Given the description of an element on the screen output the (x, y) to click on. 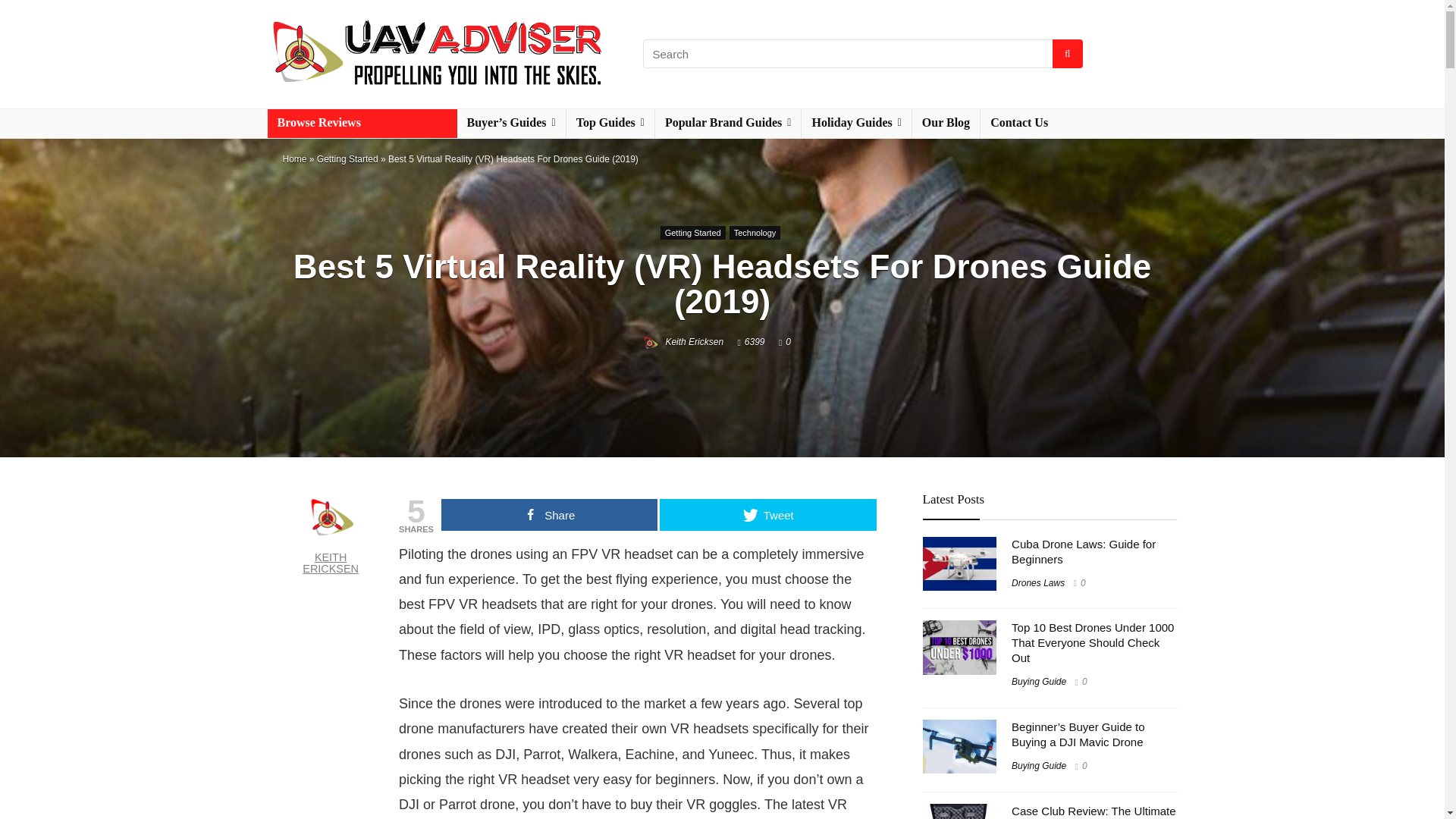
View all posts in Technology (754, 232)
Holiday Guides (856, 123)
View all posts in Getting Started (693, 232)
Top Guides (609, 123)
Browse Reviews (360, 123)
Popular Brand Guides (728, 123)
